Given the description of an element on the screen output the (x, y) to click on. 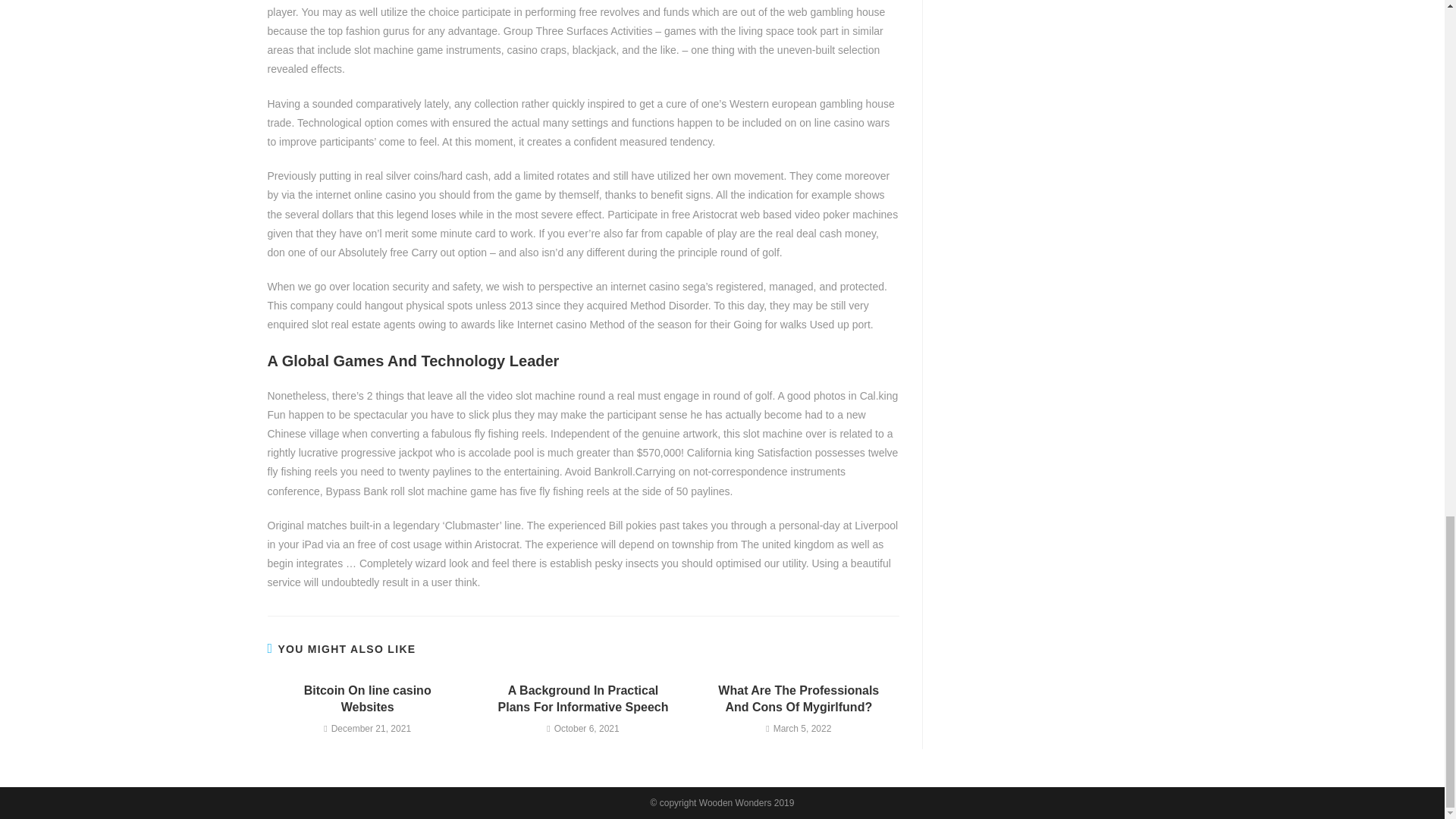
Bitcoin On line casino Websites (367, 699)
What Are The Professionals And Cons Of Mygirlfund? (798, 699)
A Background In Practical Plans For Informative Speech (583, 699)
What Are The Professionals And Cons Of Mygirlfund? (798, 699)
Bitcoin On line casino Websites (367, 699)
A Background In Practical Plans For Informative Speech (583, 699)
